Given the description of an element on the screen output the (x, y) to click on. 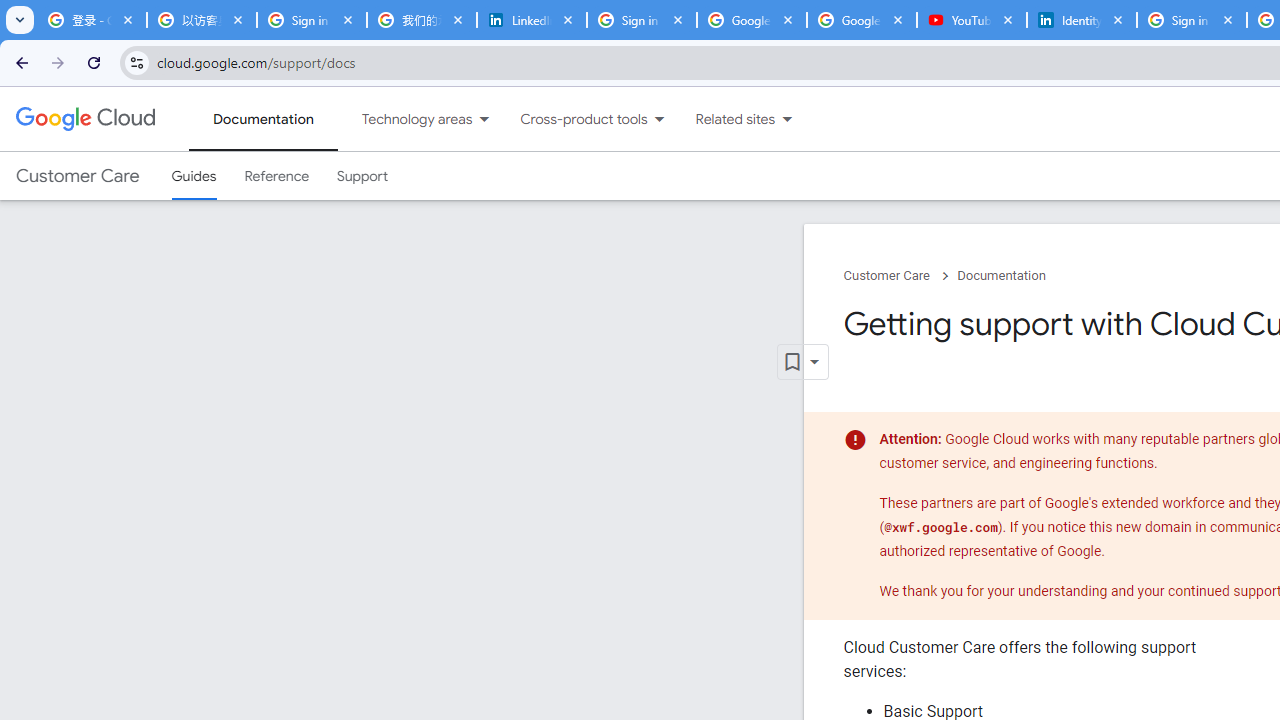
Dropdown menu for Cross-product tools (659, 119)
Sign in - Google Accounts (1191, 20)
